Given the description of an element on the screen output the (x, y) to click on. 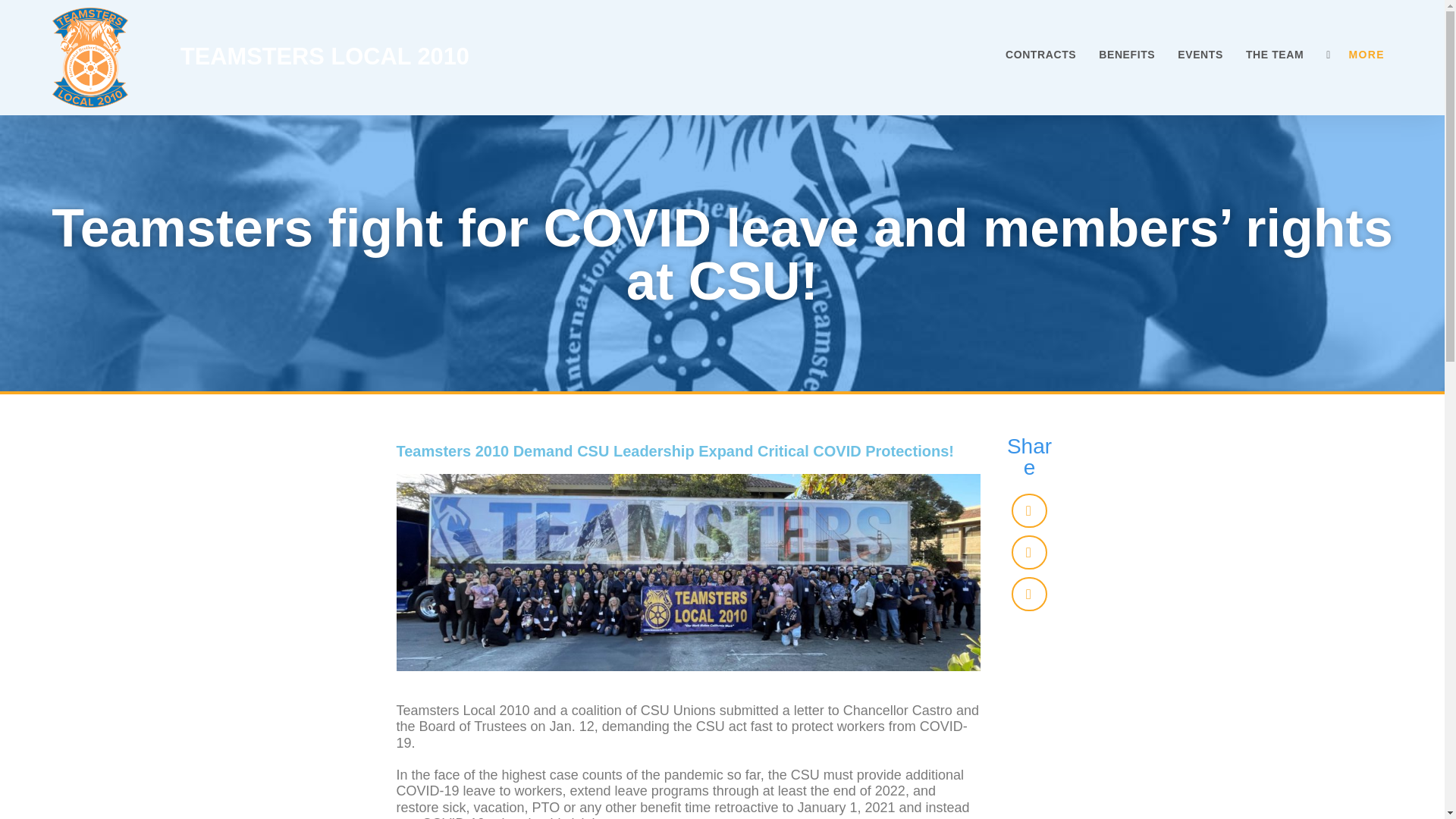
THE TEAM (1274, 54)
CONTRACTS (1040, 54)
BENEFITS (1126, 54)
EVENTS (1200, 54)
TEAMSTERS LOCAL 2010 (324, 56)
MORE (1366, 54)
